Given the description of an element on the screen output the (x, y) to click on. 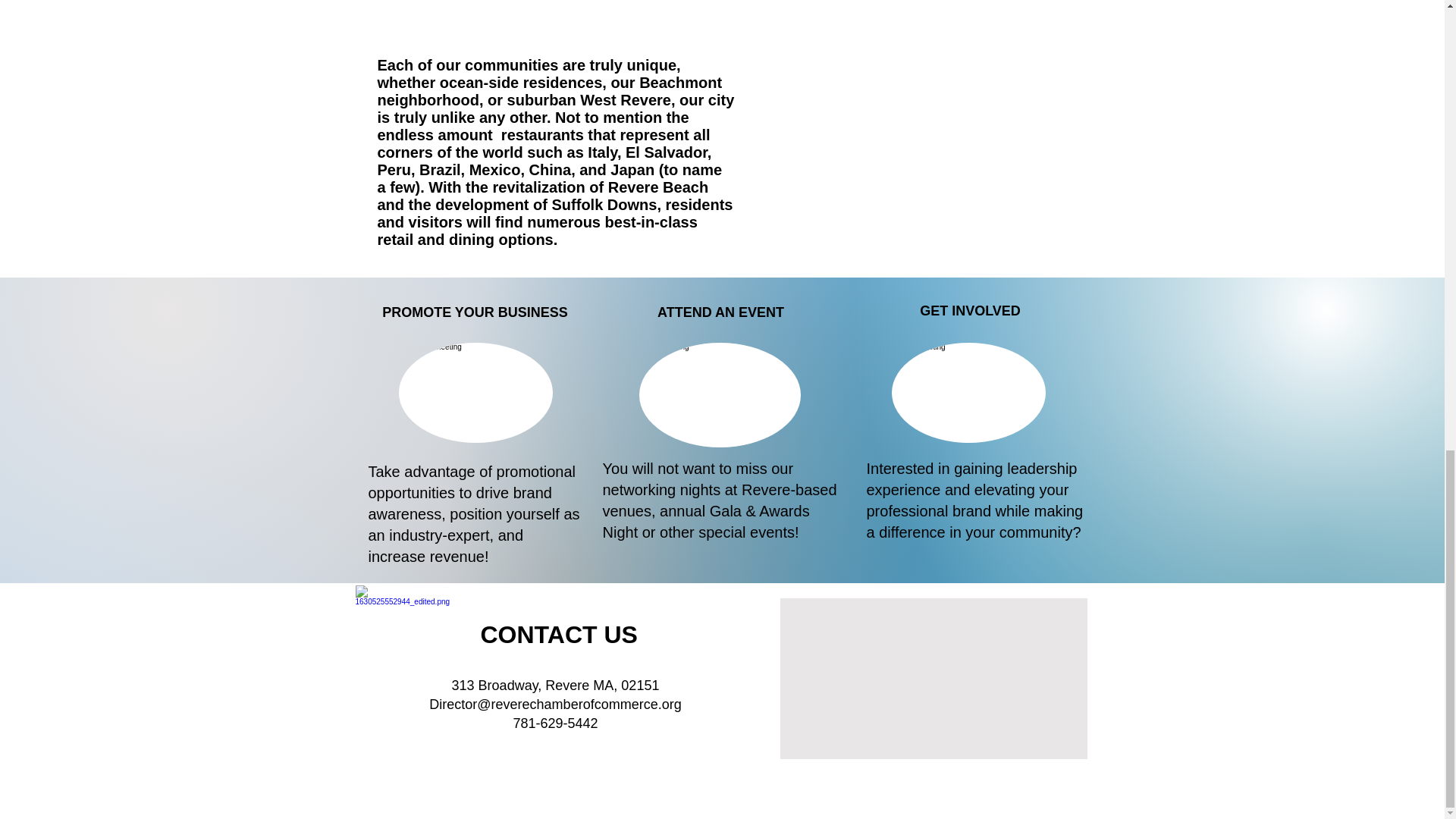
LEARN MORE (733, 608)
LEARN MORE (473, 608)
LEARN MORE (967, 608)
